Given the description of an element on the screen output the (x, y) to click on. 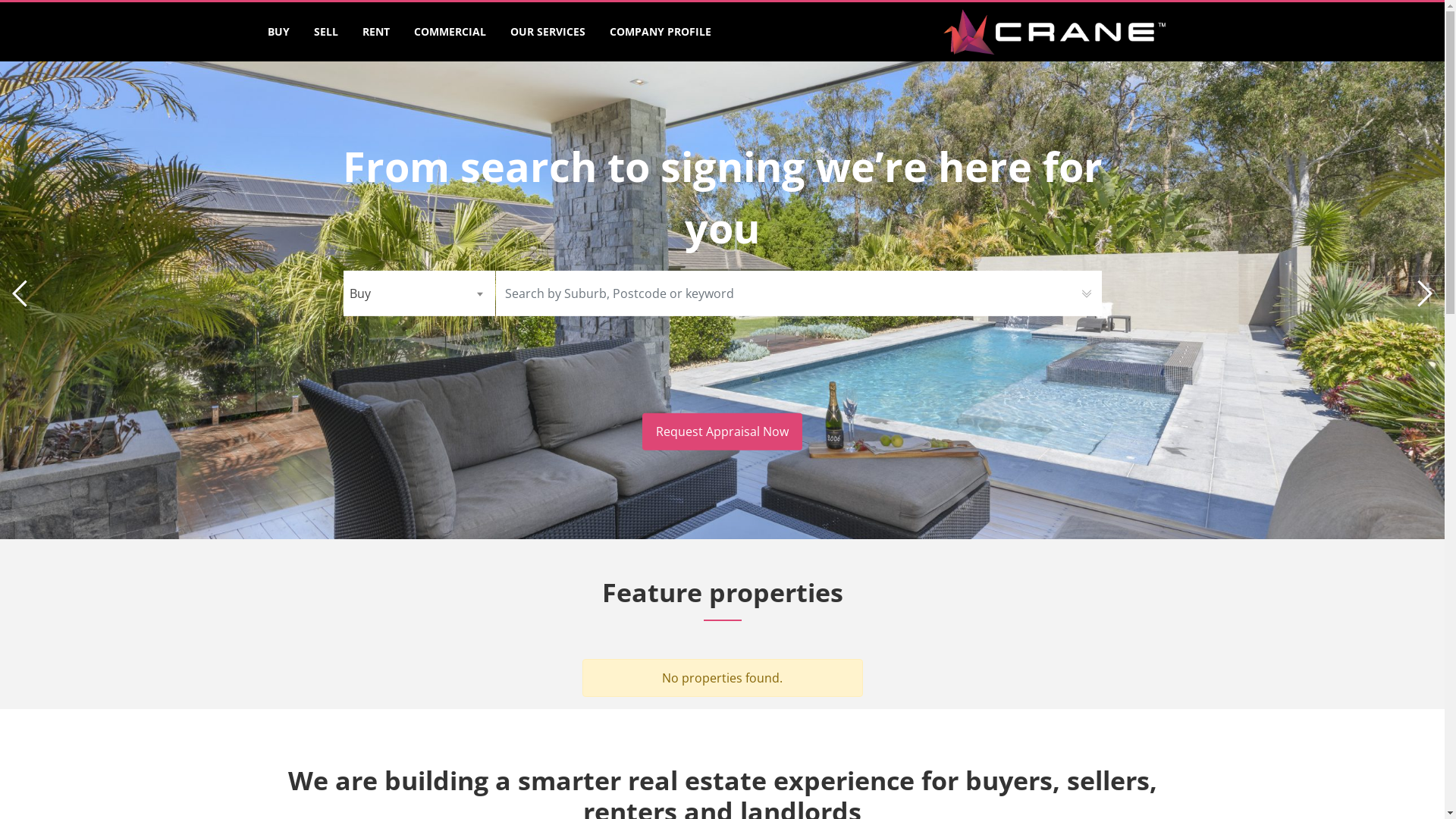
COMMERCIAL Element type: text (450, 31)
RENT Element type: text (375, 31)
COMPANY PROFILE Element type: text (660, 31)
BUY Element type: text (277, 31)
SELL Element type: text (325, 31)
OUR SERVICES Element type: text (546, 31)
Request Appraisal Now Element type: text (722, 431)
